Given the description of an element on the screen output the (x, y) to click on. 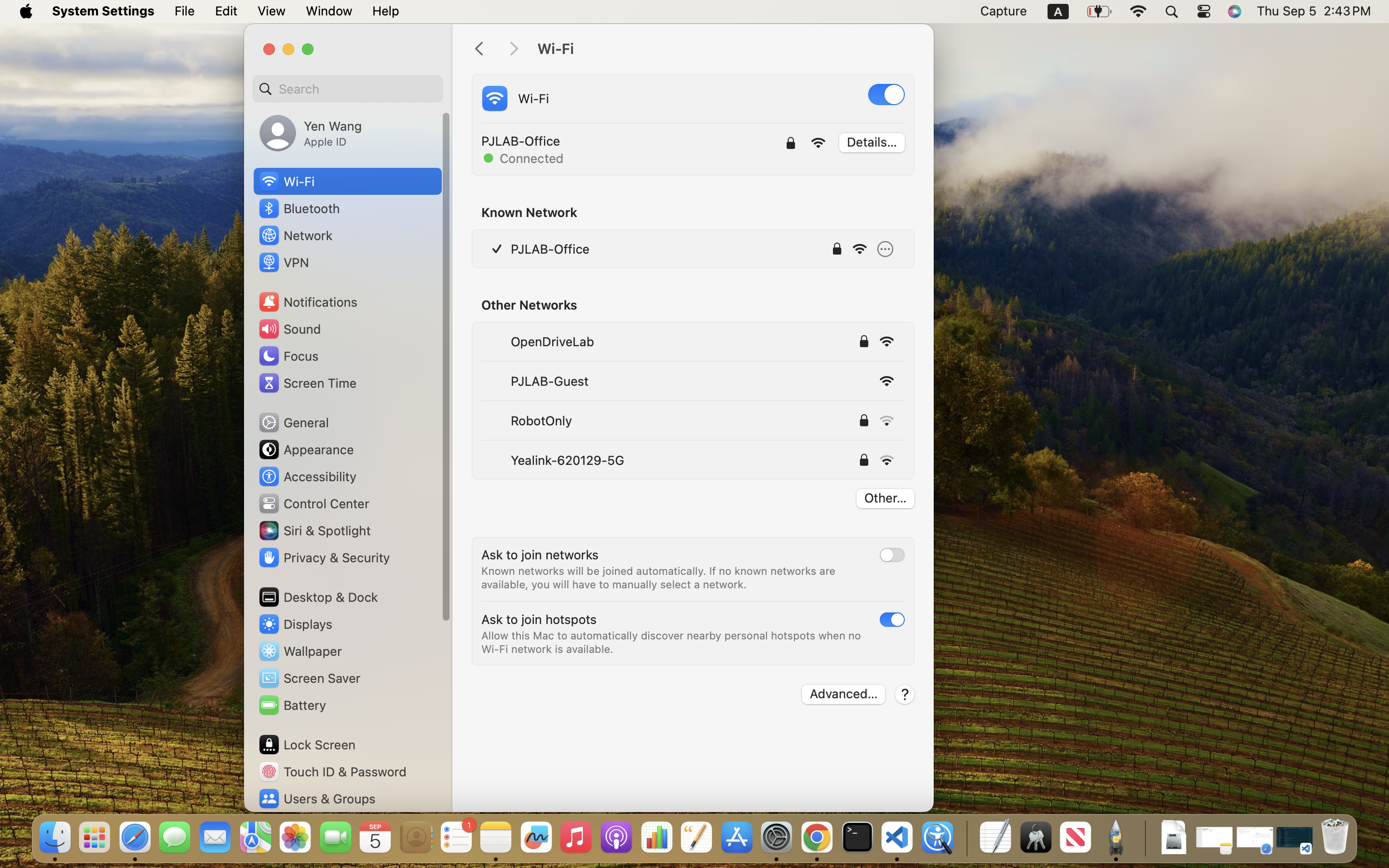
Lock Screen Element type: AXStaticText (306, 744)
Focus Element type: AXStaticText (287, 355)
OpenDriveLab Element type: AXStaticText (551, 341)
VPN Element type: AXStaticText (282, 261)
Network Element type: AXStaticText (294, 234)
